Given the description of an element on the screen output the (x, y) to click on. 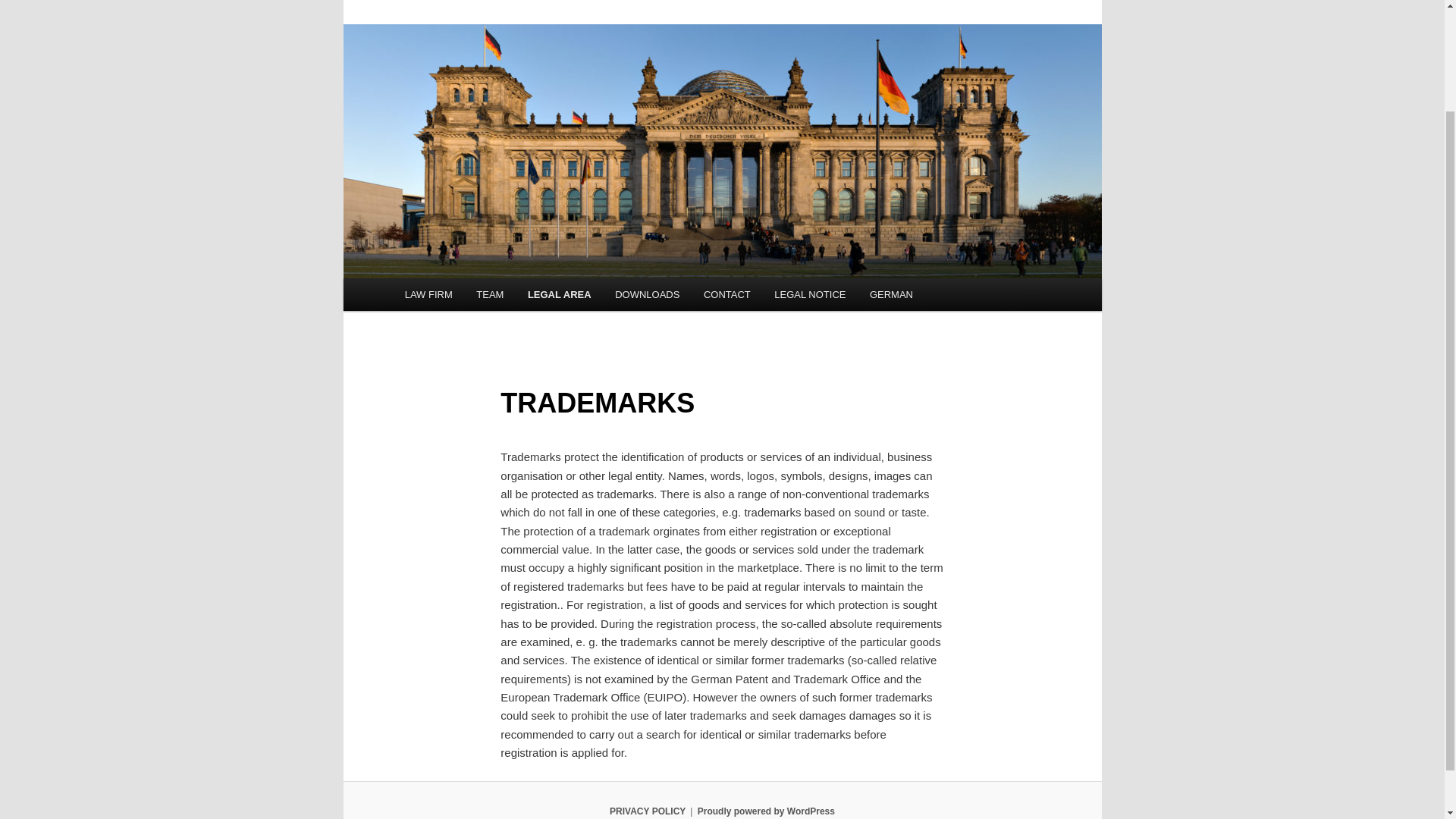
CONTACT (726, 294)
Semantic Personal Publishing Platform (765, 810)
PRIVACY POLICY (647, 810)
Proudly powered by WordPress (765, 810)
DOWNLOADS (646, 294)
GERMAN (890, 294)
LAW FIRM (428, 294)
TEAM (490, 294)
LEGAL NOTICE (810, 294)
LEGAL AREA (558, 294)
